Given the description of an element on the screen output the (x, y) to click on. 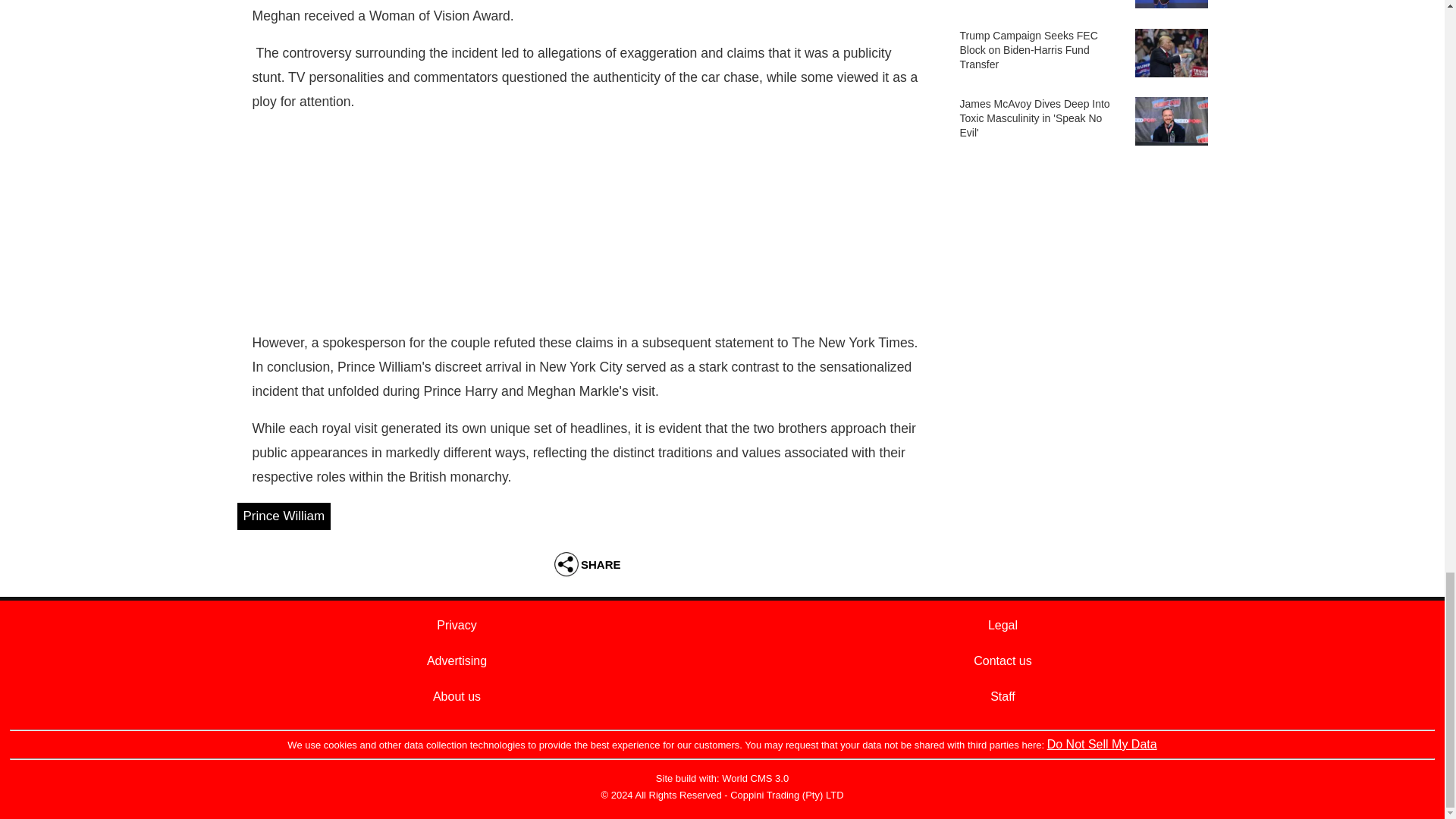
Prince William (282, 515)
